Given the description of an element on the screen output the (x, y) to click on. 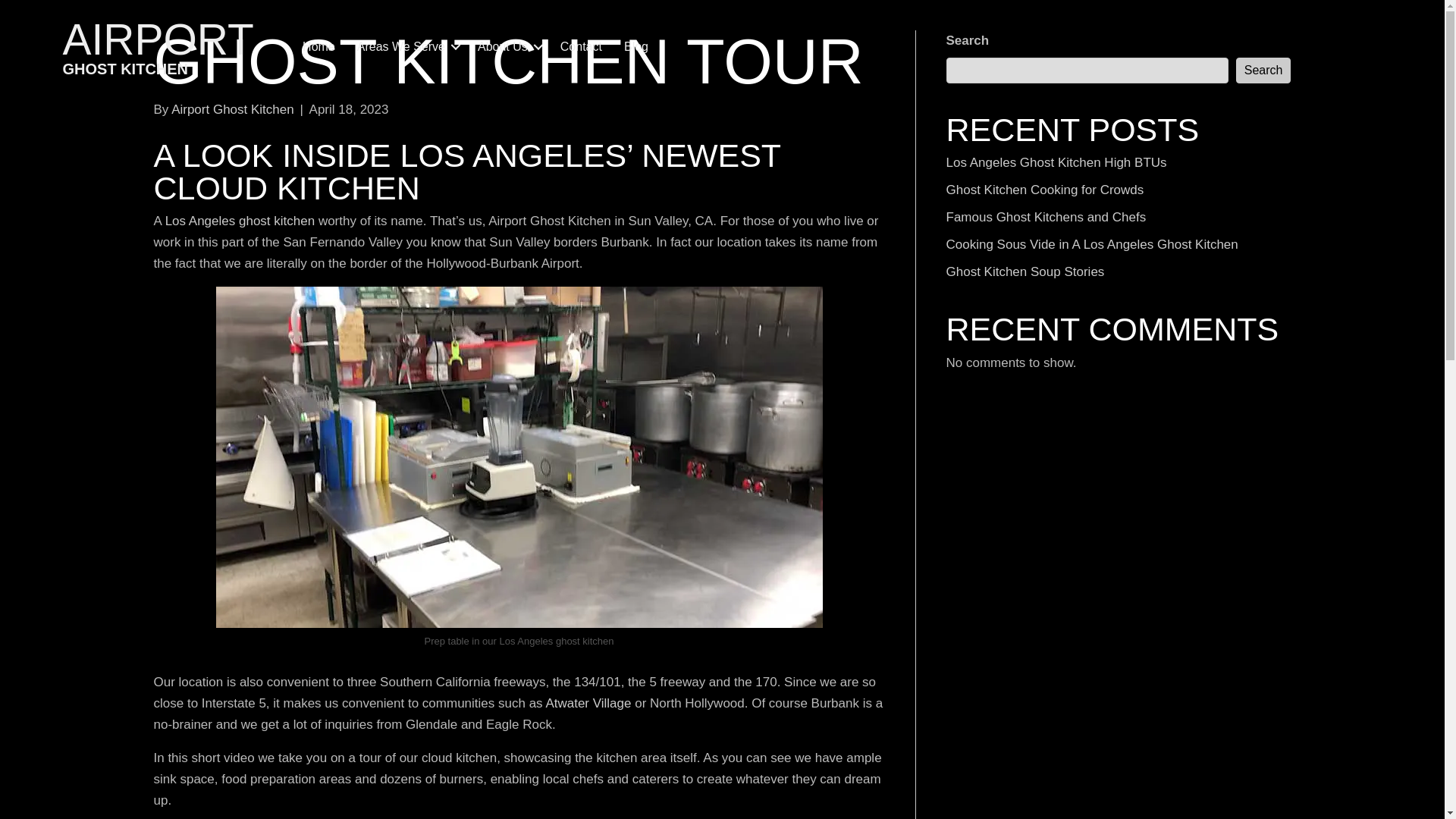
Search (1263, 70)
Los Angeles ghost kitchen (240, 220)
Famous Ghost Kitchens and Chefs (1046, 216)
About Us (507, 46)
Atwater Village (589, 703)
Ghost Kitchen Cooking for Crowds (1045, 189)
Blog (635, 46)
Los Angeles Ghost Kitchen High BTUs (1056, 162)
Ghost Kitchen Soup Stories (1025, 271)
Airport Ghost Kitchen (232, 109)
Cooking Sous Vide in A Los Angeles Ghost Kitchen (1092, 244)
Home (319, 46)
Contact (581, 46)
Areas We Serve (405, 46)
